Given the description of an element on the screen output the (x, y) to click on. 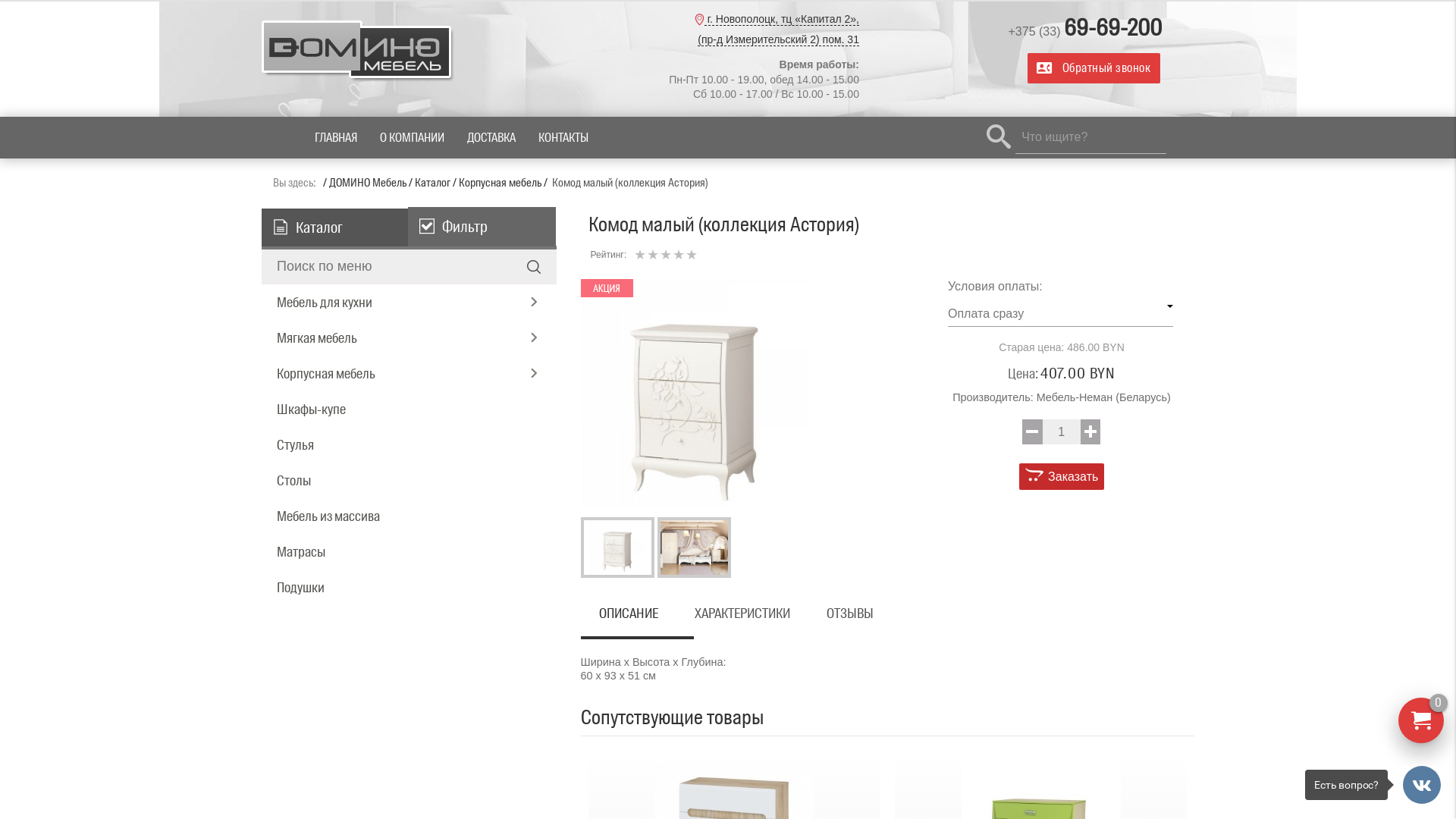
0 Element type: text (1420, 720)
69-69-200 Element type: text (1112, 27)
